Given the description of an element on the screen output the (x, y) to click on. 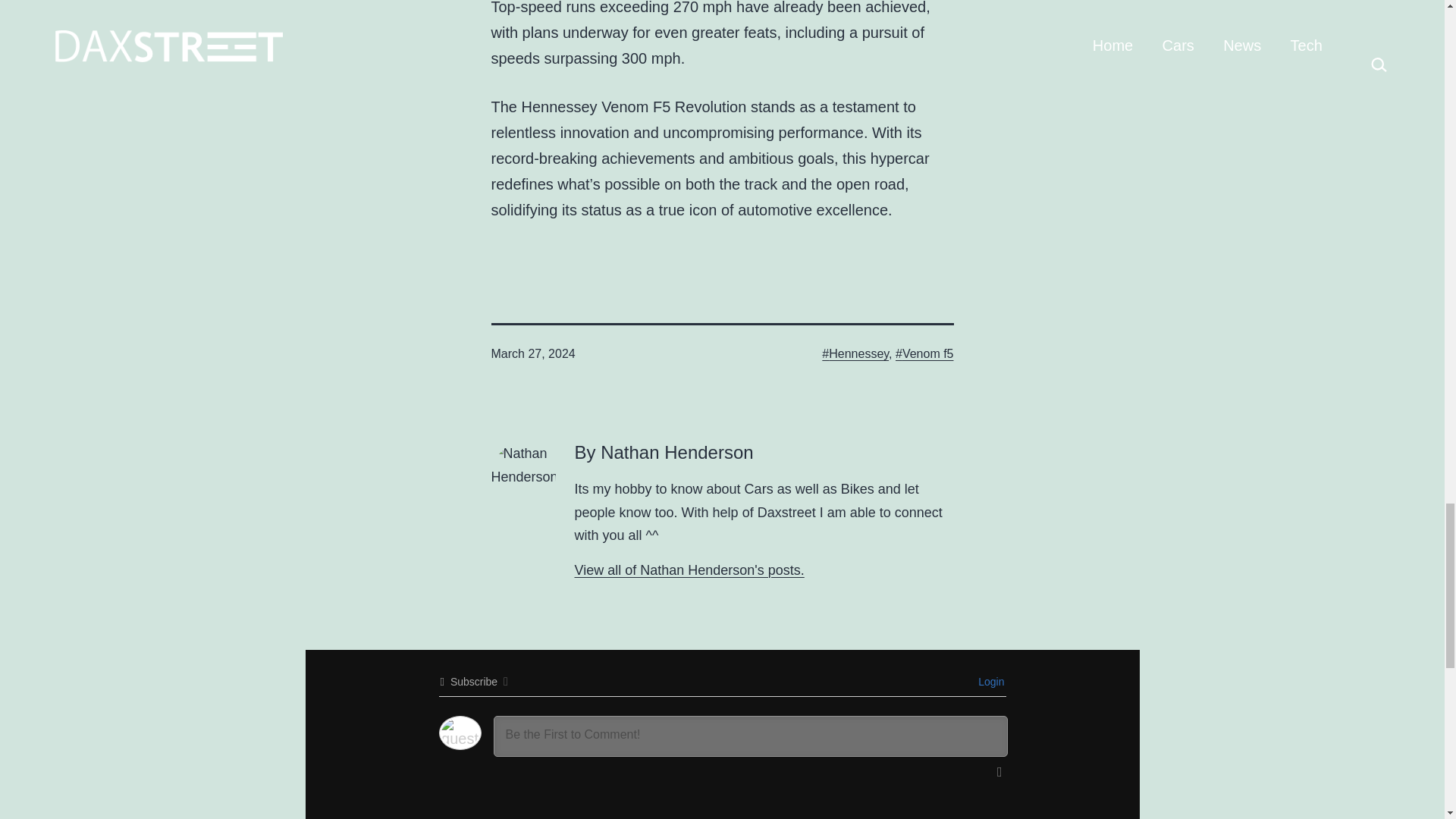
Login (989, 681)
Venom f5 (924, 353)
View all of Nathan Henderson's posts. (690, 570)
Hennessey (855, 353)
